Given the description of an element on the screen output the (x, y) to click on. 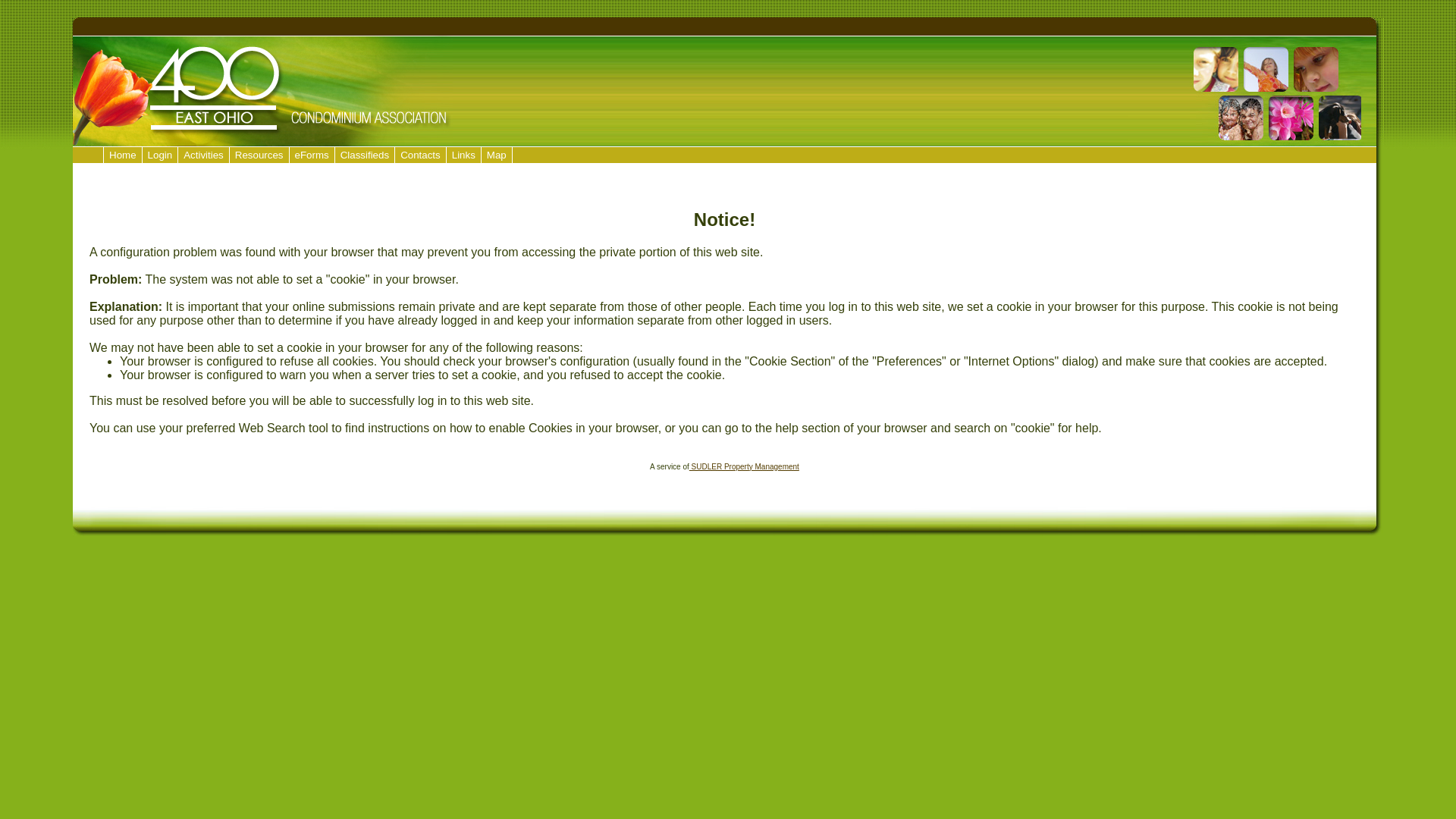
Home Element type: text (122, 155)
Map Element type: text (496, 155)
Links Element type: text (463, 155)
Activities Element type: text (203, 155)
Classifieds Element type: text (364, 155)
Login Element type: text (160, 155)
eForms Element type: text (311, 155)
Resources Element type: text (258, 155)
SUDLER Property Management Element type: text (744, 466)
Contacts Element type: text (420, 155)
